Given the description of an element on the screen output the (x, y) to click on. 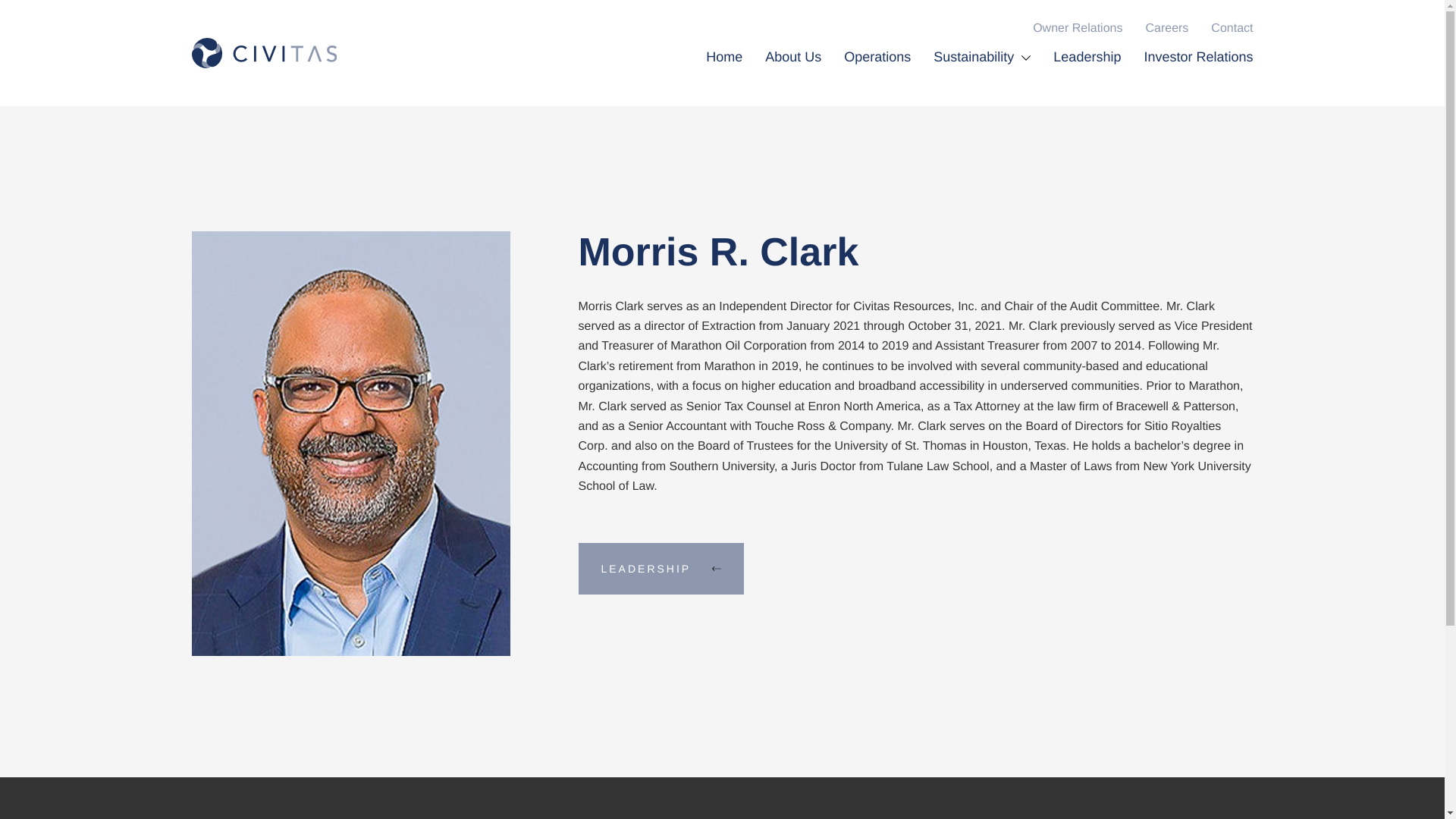
About Us (793, 77)
Leadership (1086, 77)
Sustainability (981, 77)
Careers (1166, 28)
LEADERSHIP (661, 568)
Operations (877, 77)
Contact (1231, 28)
Contact (1231, 28)
Sustainability (981, 77)
Careers (1166, 28)
Investor Relations (1197, 77)
Owner Relations (1077, 28)
About Us (793, 77)
Owner Relations (1077, 28)
Operations (877, 77)
